Given the description of an element on the screen output the (x, y) to click on. 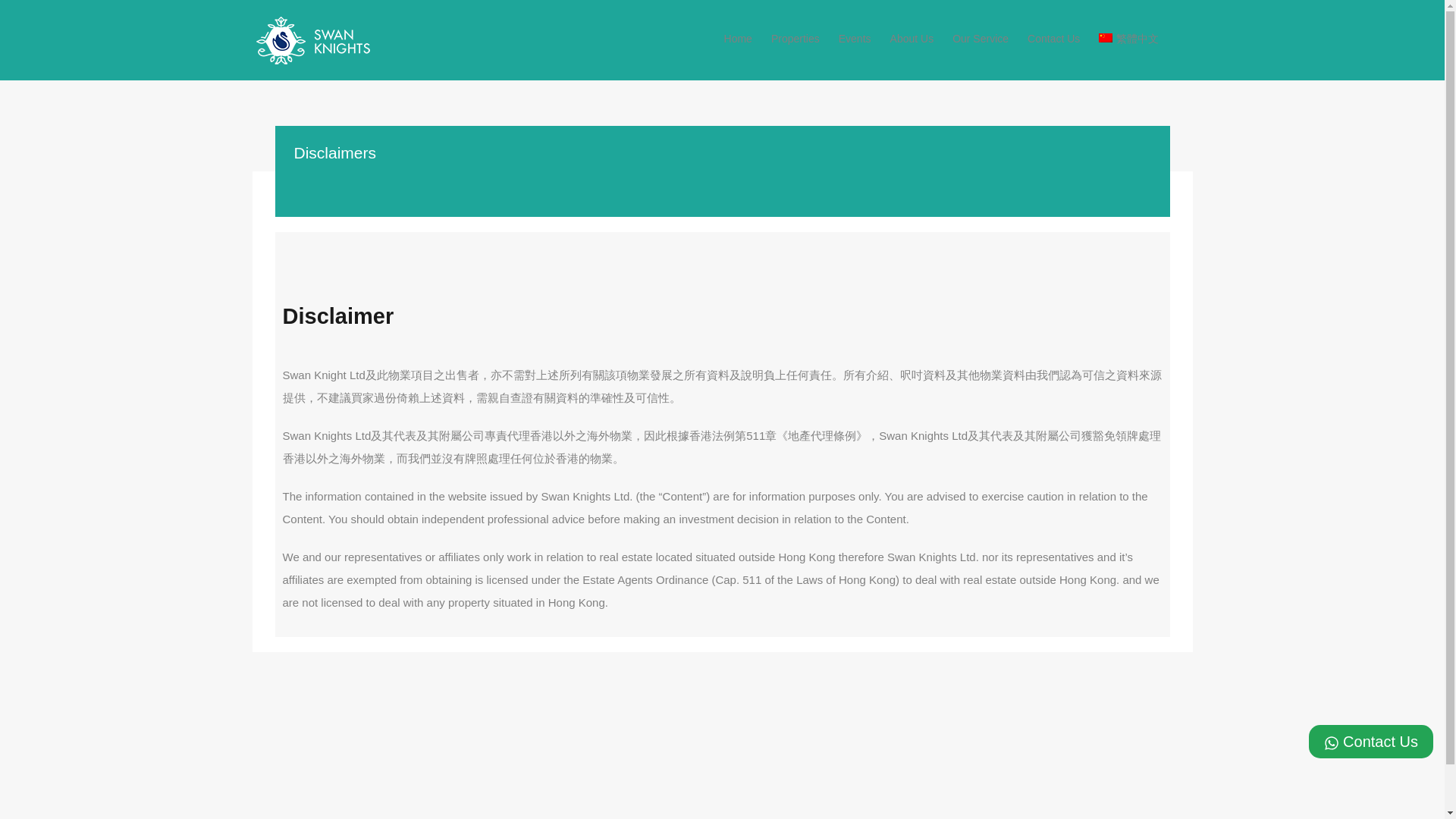
About Us (911, 38)
Properties (795, 38)
Swan Knights (311, 57)
Contact Us (1053, 38)
Our Service (980, 38)
Contact Us (1370, 741)
